Given the description of an element on the screen output the (x, y) to click on. 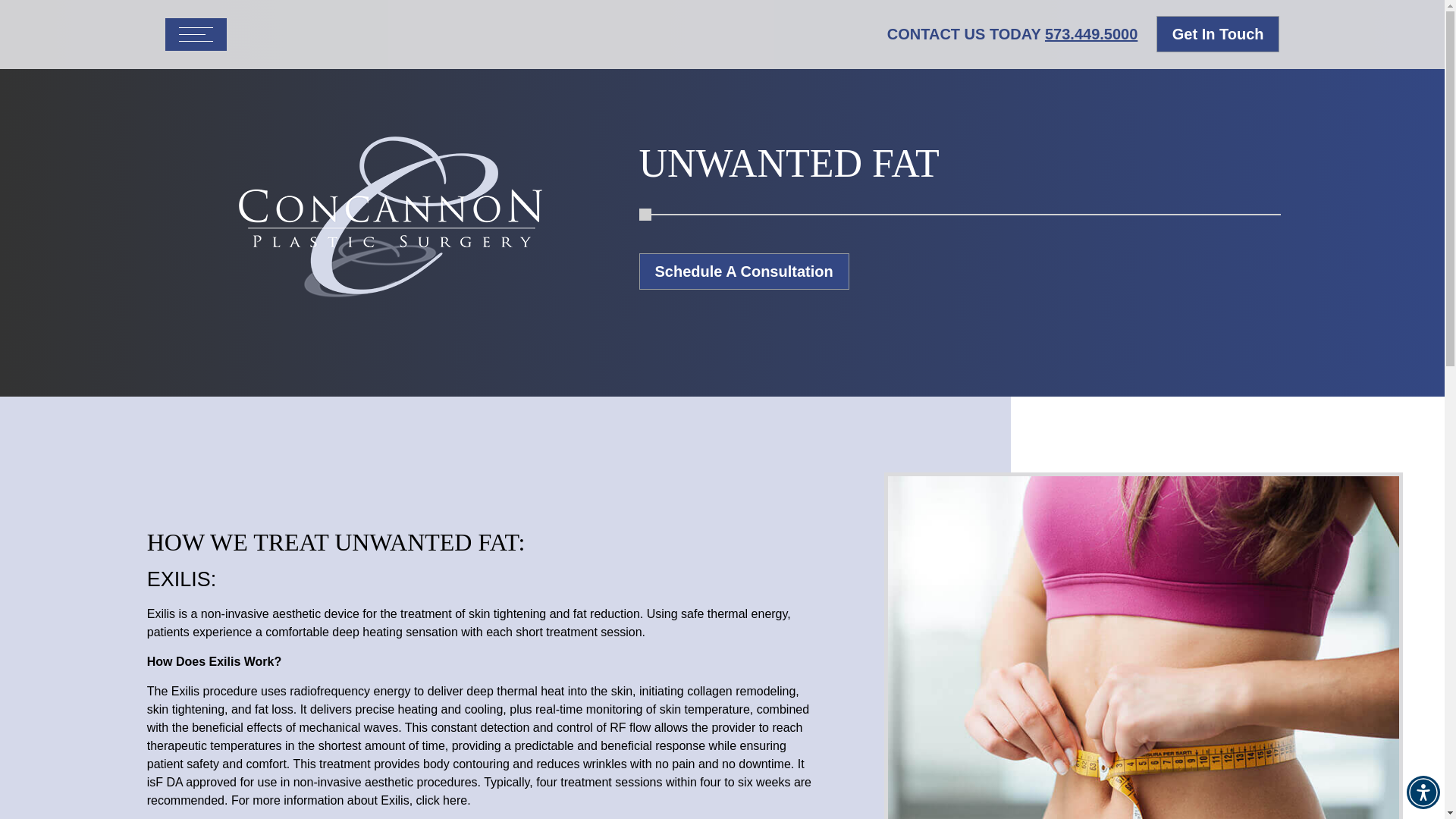
Accessibility Menu (1422, 792)
Get In Touch (1217, 33)
573.449.5000 (1091, 33)
